Given the description of an element on the screen output the (x, y) to click on. 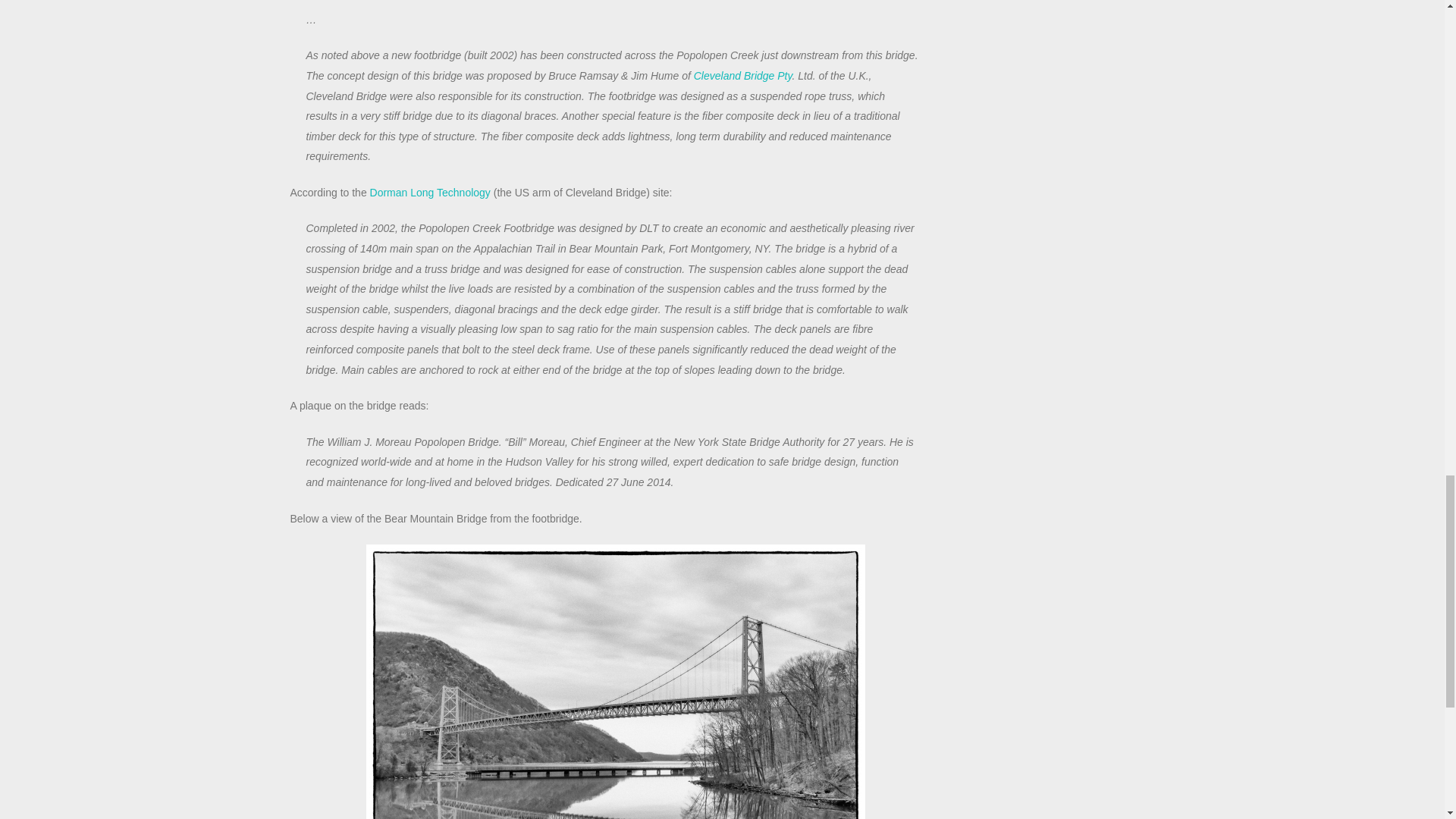
Cleveland Bridge Pty (743, 75)
Dorman Long Technology (429, 192)
